Given the description of an element on the screen output the (x, y) to click on. 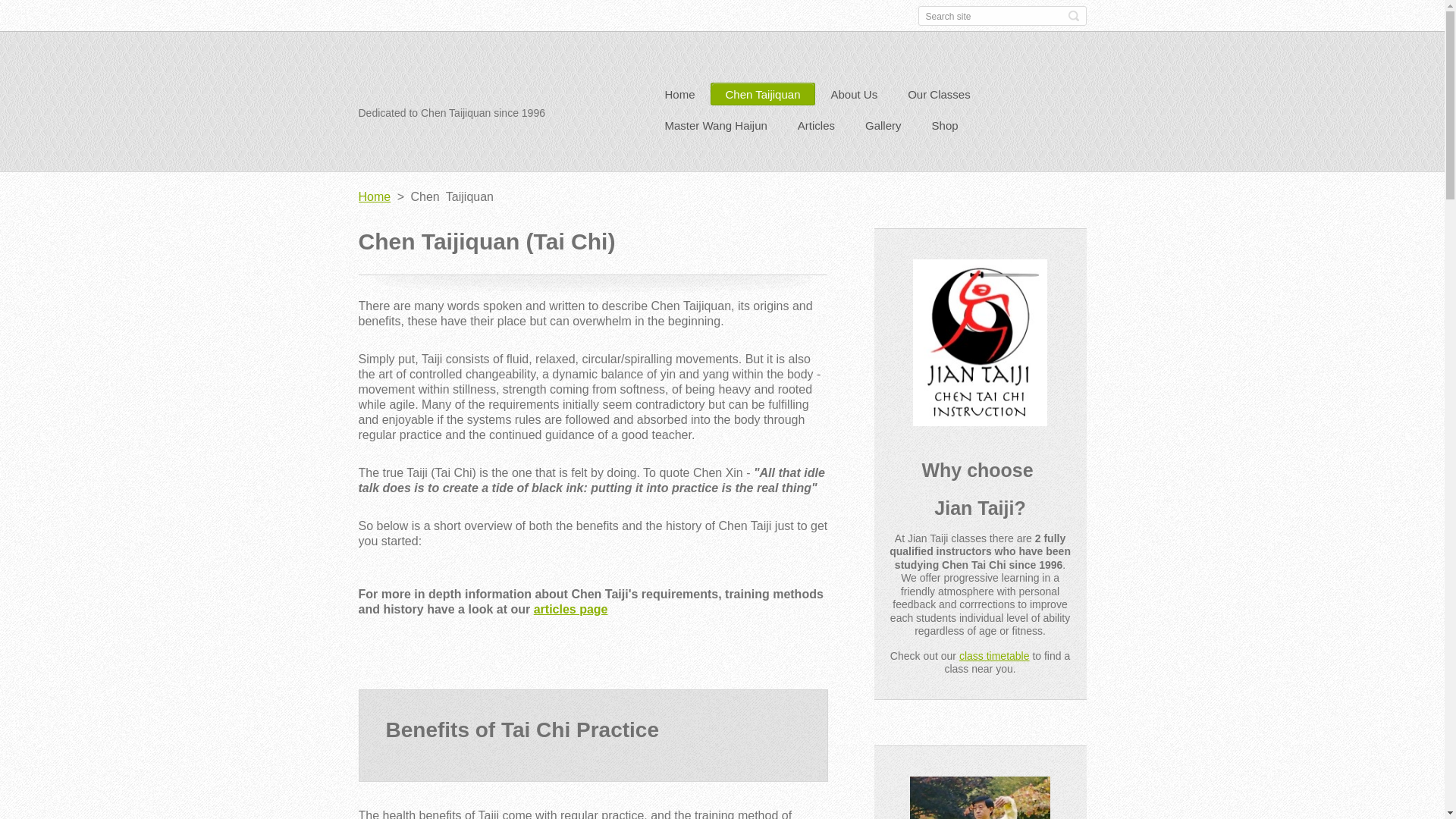
articles page (571, 608)
Gallery (883, 126)
Shop (945, 126)
Go to Homepage. (414, 78)
Home (679, 95)
Master Wang Haijun (715, 126)
Chen Taijiquan (762, 95)
Search (1072, 15)
About Us (853, 95)
Our Classes (938, 95)
